Given the description of an element on the screen output the (x, y) to click on. 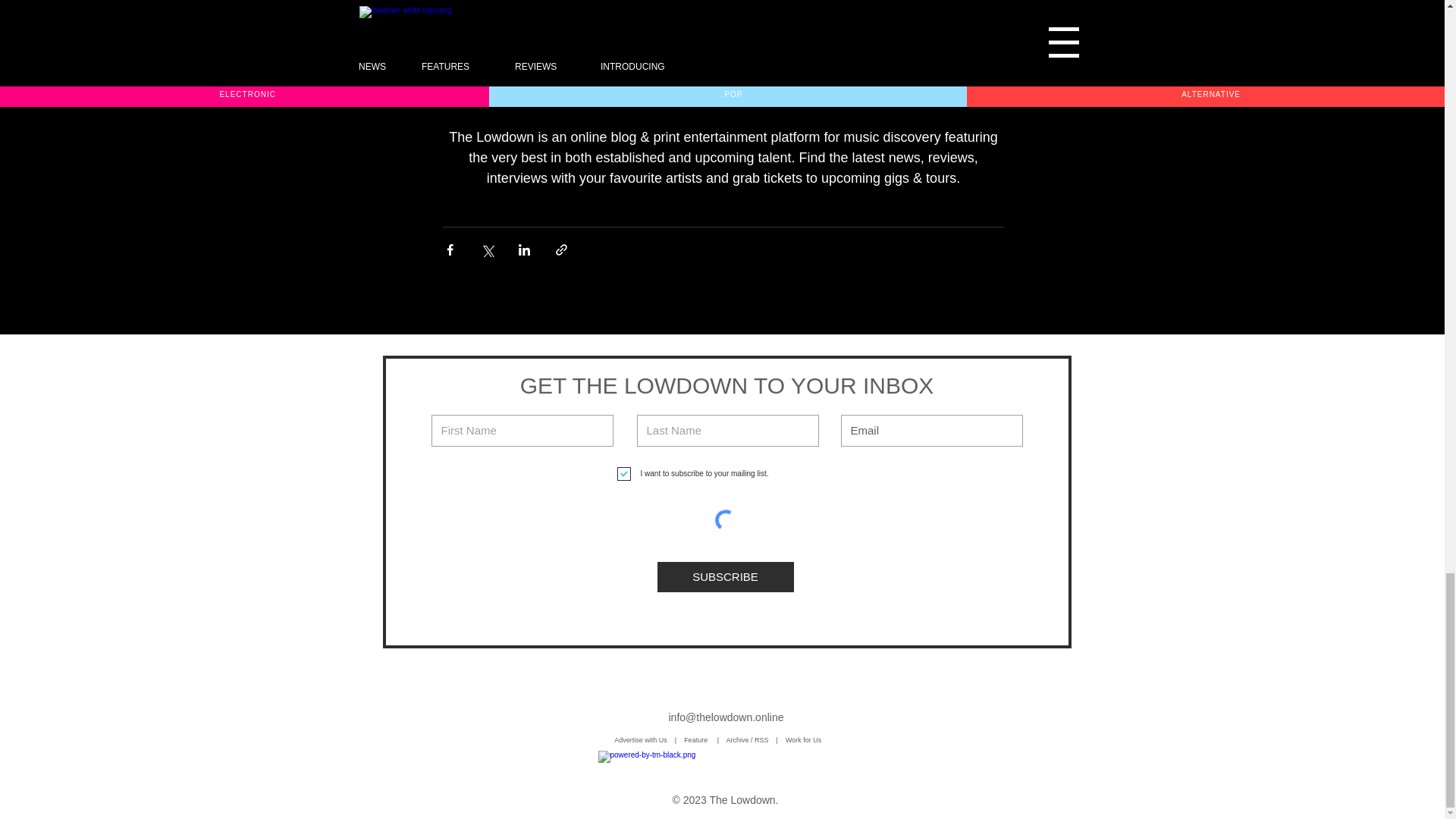
SUBSCRIBE (724, 576)
Advertise with Us (640, 739)
Feature      (700, 739)
HERE (746, 50)
Work for Us   (805, 739)
